Given the description of an element on the screen output the (x, y) to click on. 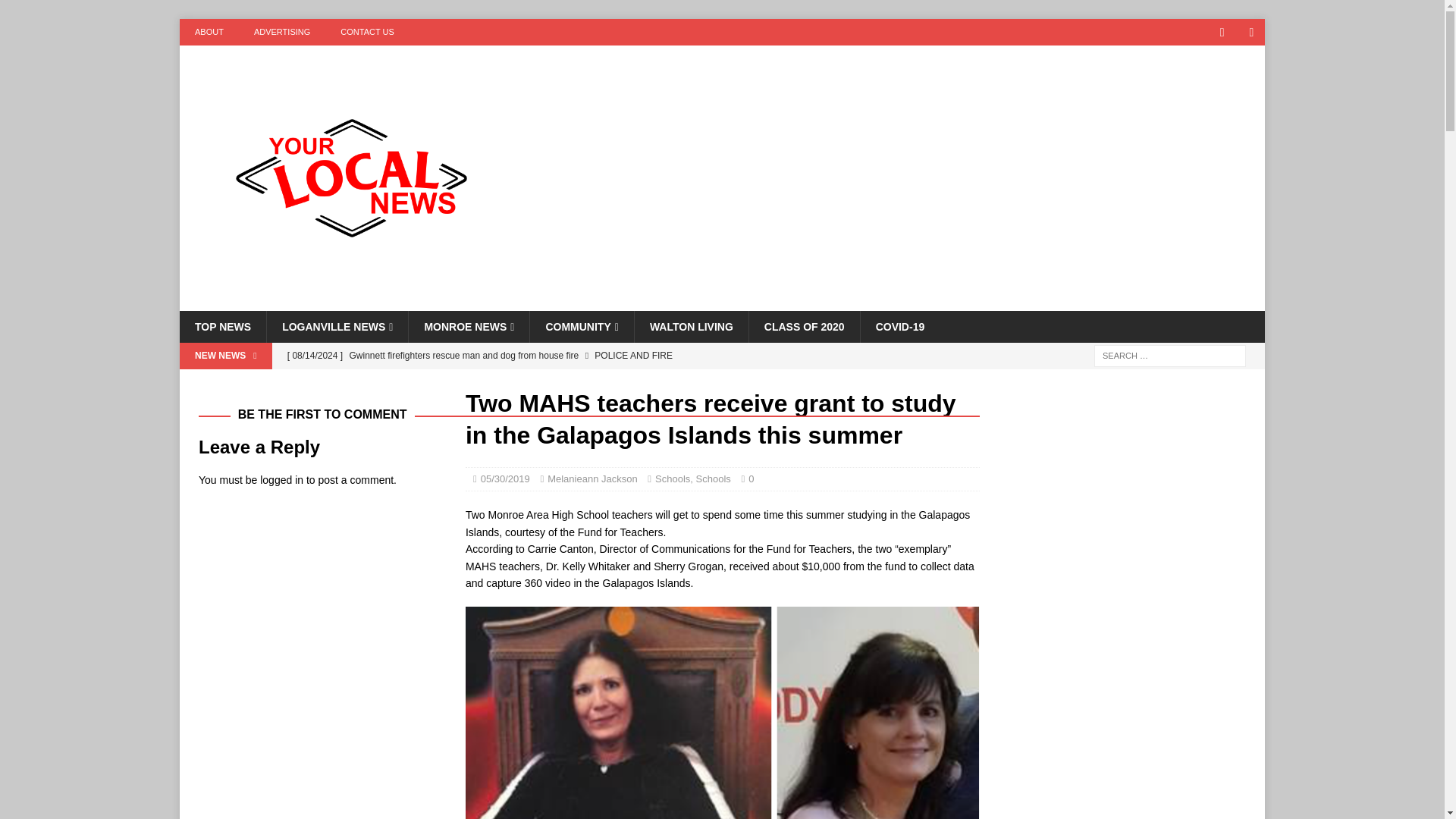
ADVERTISING (281, 31)
Gwinnett firefighters rescue man and dog from house fire (582, 355)
CONTACT US (366, 31)
LOGANVILLE NEWS (336, 327)
TOP NEWS (222, 327)
UPDATE: Trees have been cleared and Hwy 138 has reopened (582, 380)
ABOUT (208, 31)
